Given the description of an element on the screen output the (x, y) to click on. 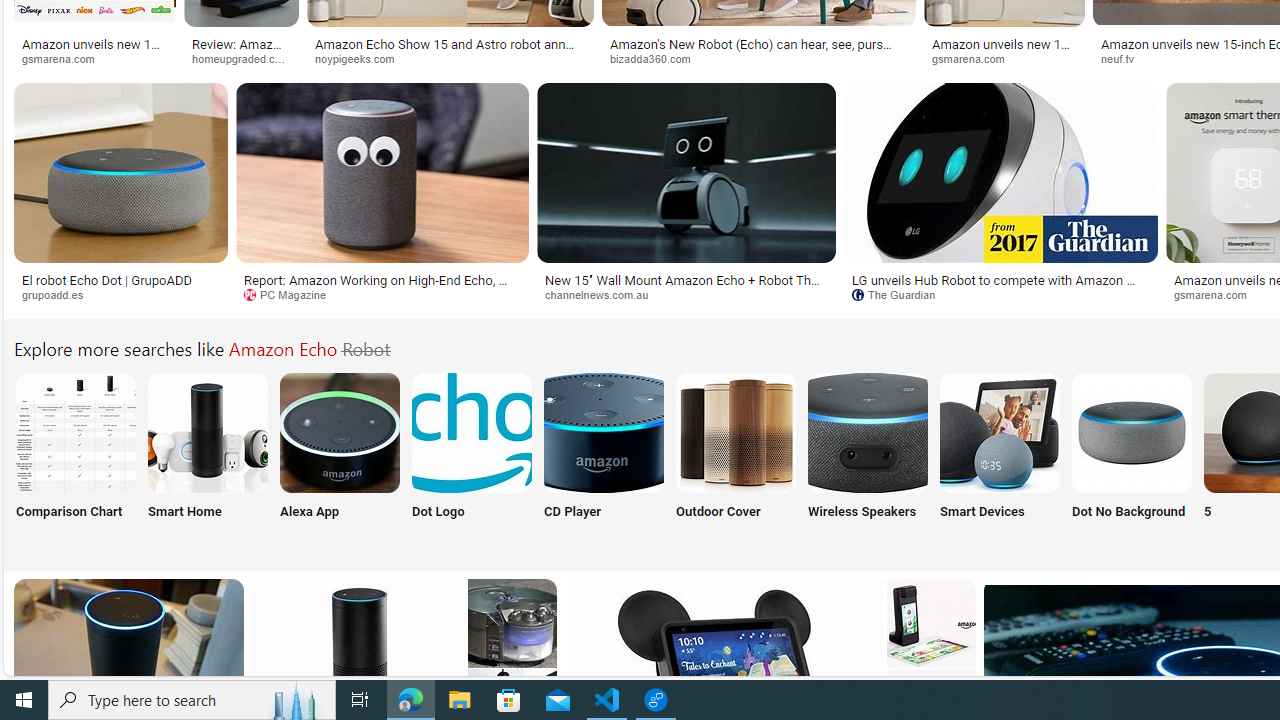
Alexa App. Amazon Echo Alexa App (339, 458)
The Guardian (900, 294)
noypigeeks.com (361, 57)
Comparison Chart (74, 457)
bizadda360.com (758, 58)
grupoadd.es (120, 295)
Amazon Echo Outdoor Cover Outdoor Cover (735, 458)
neuf.tv (1124, 57)
